Given the description of an element on the screen output the (x, y) to click on. 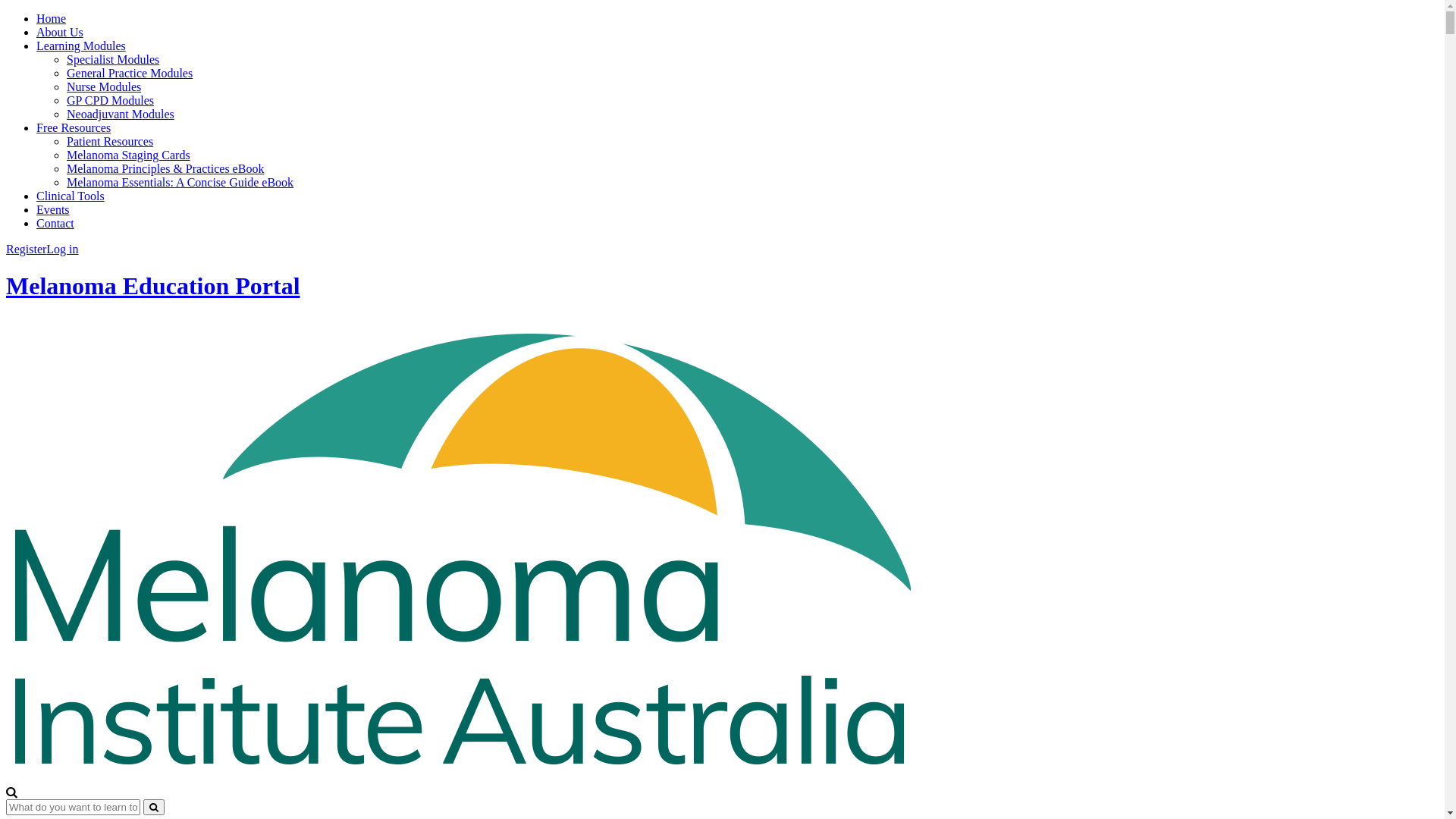
GP CPD Modules Element type: text (109, 100)
Melanoma Principles & Practices eBook Element type: text (164, 168)
Learning Modules Element type: text (80, 45)
Melanoma Education Portal Element type: text (153, 285)
Log in Element type: text (62, 248)
About Us Element type: text (59, 31)
Free Resources Element type: text (73, 127)
Clinical Tools Element type: text (70, 195)
Home Element type: text (50, 18)
Contact Element type: text (55, 222)
Register Element type: text (26, 248)
Melanoma Essentials: A Concise Guide eBook Element type: text (179, 181)
Specialist Modules Element type: text (112, 59)
Nurse Modules Element type: text (103, 86)
General Practice Modules Element type: text (129, 72)
Neoadjuvant Modules Element type: text (120, 113)
Melanoma Staging Cards Element type: text (128, 154)
Events Element type: text (52, 209)
Patient Resources Element type: text (109, 140)
